Given the description of an element on the screen output the (x, y) to click on. 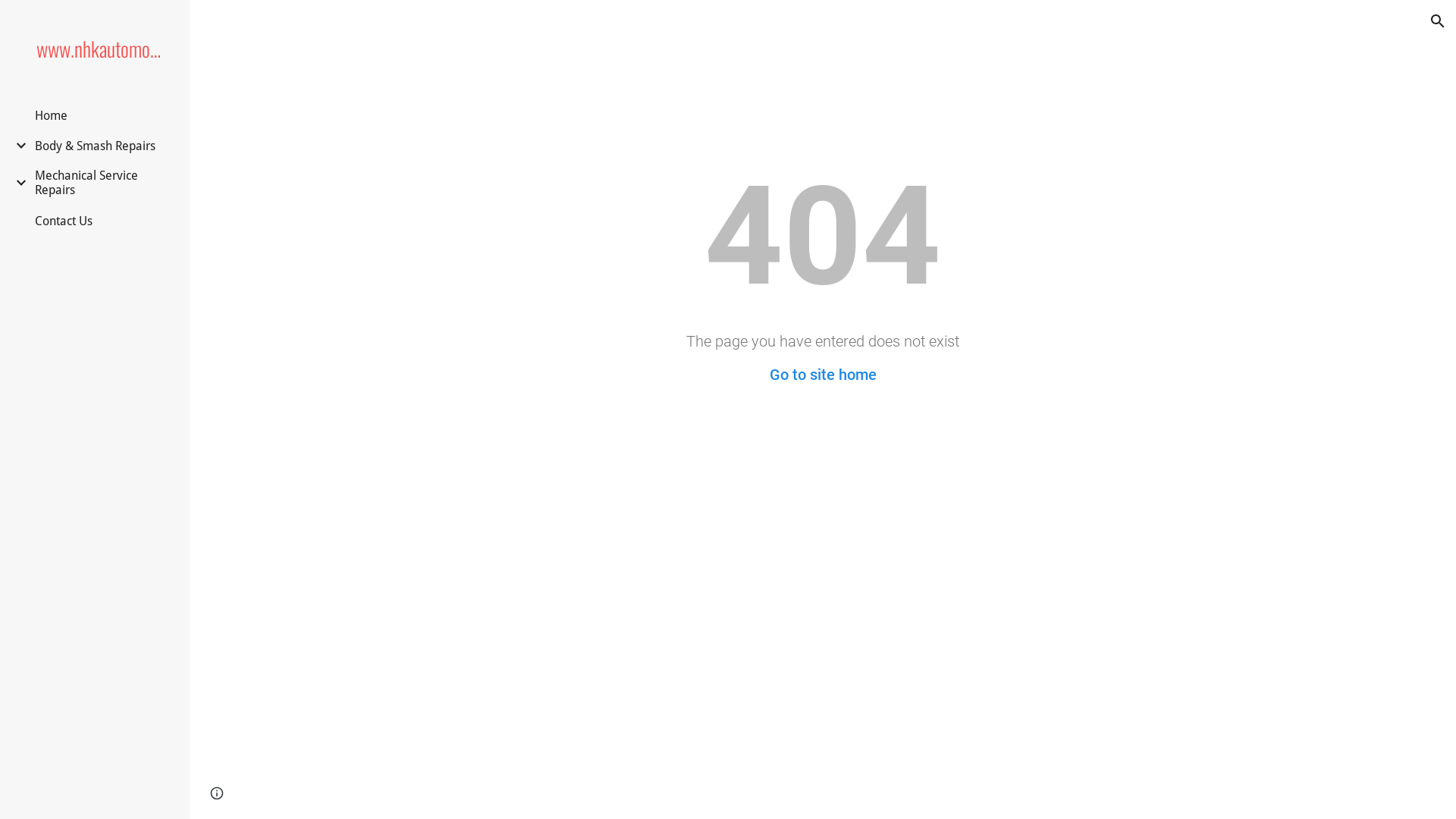
www.nhkautomotive.com.au Element type: text (100, 48)
Expand/Collapse Element type: hover (16, 145)
Expand/Collapse Element type: hover (16, 182)
Contact Us Element type: text (63, 220)
Go to site home Element type: text (821, 374)
Mechanical Service Repairs Element type: text (101, 182)
Home Element type: text (51, 115)
Body & Smash Repairs Element type: text (95, 145)
